Given the description of an element on the screen output the (x, y) to click on. 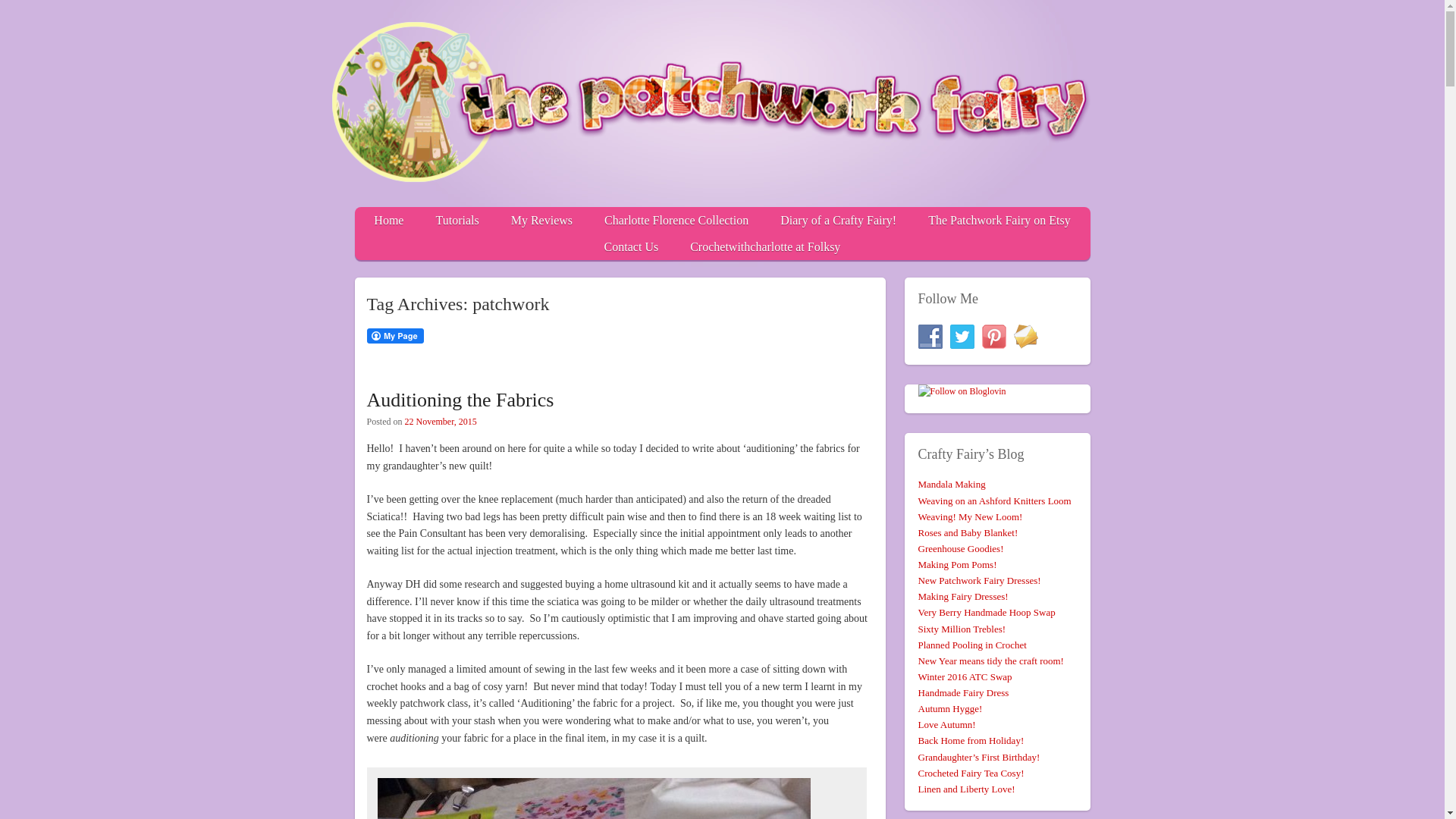
Auditioning the Fabrics (460, 400)
Skip to secondary content (799, 219)
The Patchwork Fairy on Etsy (999, 219)
22 November, 2015 (440, 421)
Diary of a Crafty Fairy! (838, 219)
Contact Us (630, 246)
Skip to secondary content (799, 219)
Home (389, 219)
5:59 pm (440, 421)
Charlotte Florence Collection (675, 219)
Skip to primary content (794, 219)
Crochetwithcharlotte at Folksy (765, 246)
Tutorials (456, 219)
Skip to primary content (794, 219)
My Reviews (541, 219)
